Given the description of an element on the screen output the (x, y) to click on. 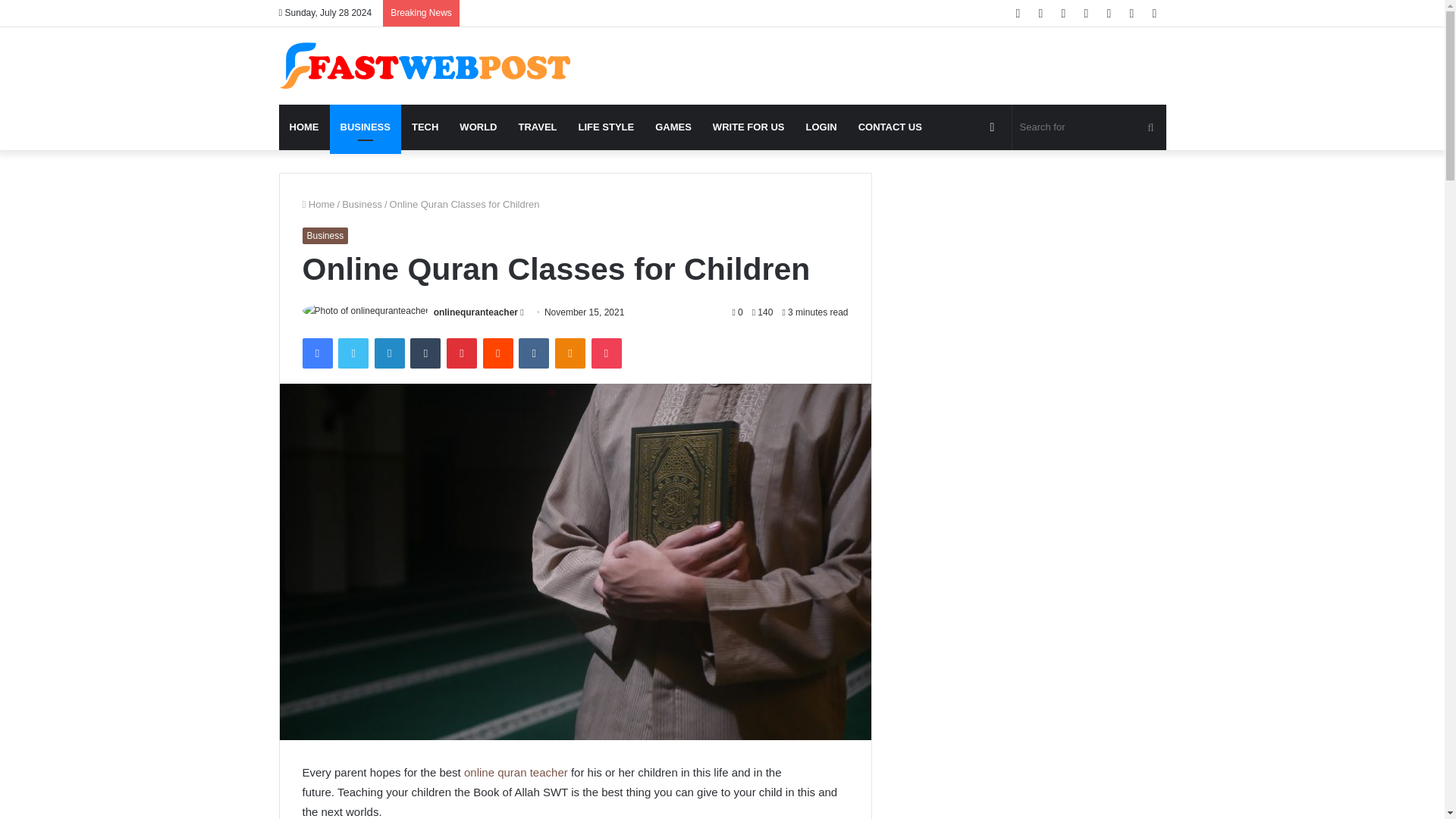
LOGIN (820, 126)
Facebook (316, 353)
TECH (424, 126)
WORLD (477, 126)
Fast Web Post (424, 65)
GAMES (673, 126)
WRITE FOR US (747, 126)
Home (317, 204)
BUSINESS (364, 126)
TRAVEL (536, 126)
Business (361, 204)
HOME (304, 126)
onlinequranteacher (475, 312)
CONTACT US (890, 126)
Search for (1088, 126)
